Given the description of an element on the screen output the (x, y) to click on. 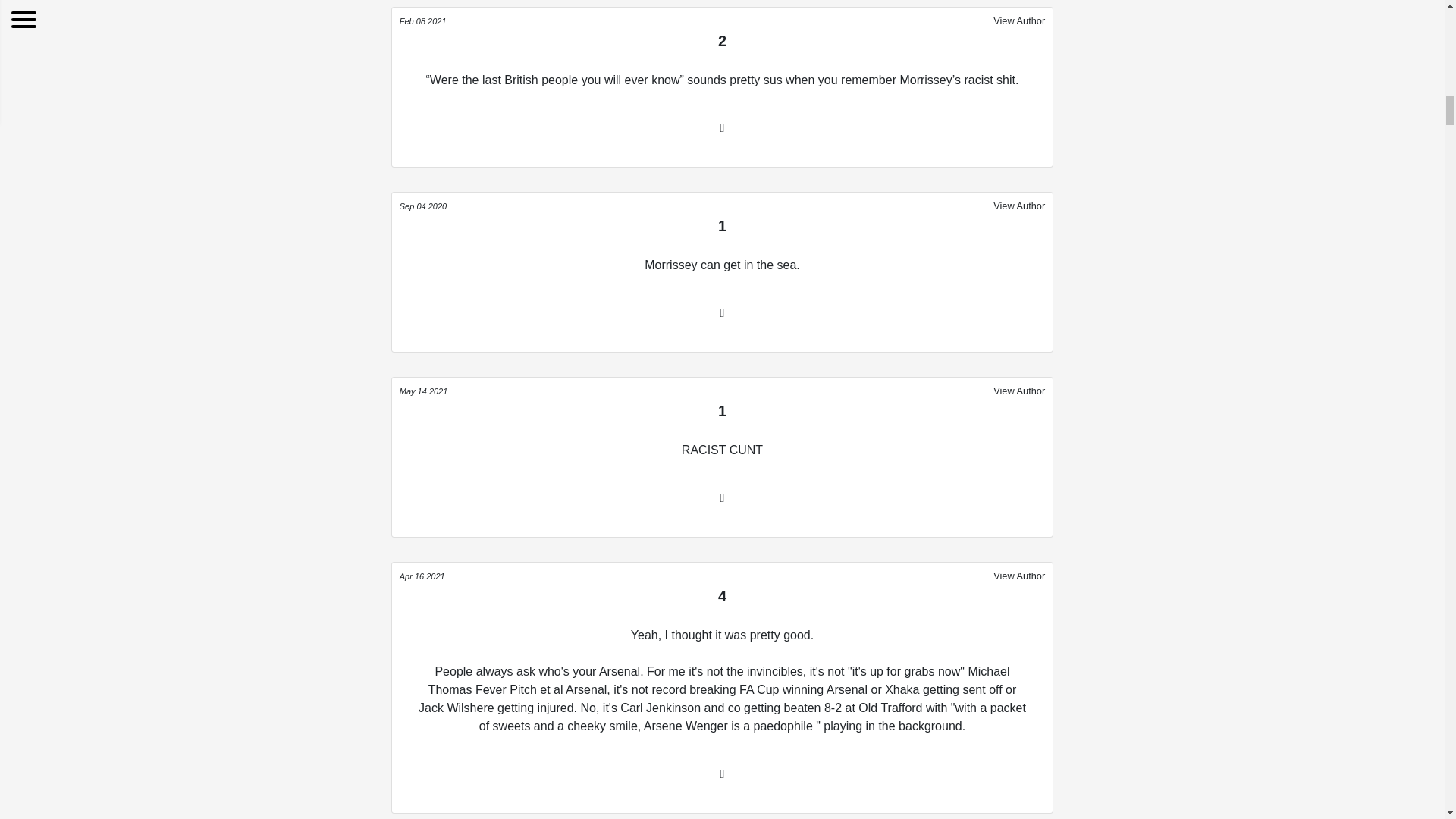
View Author (1018, 20)
View Author (1018, 575)
View Author (1018, 390)
View Author (1018, 205)
